Given the description of an element on the screen output the (x, y) to click on. 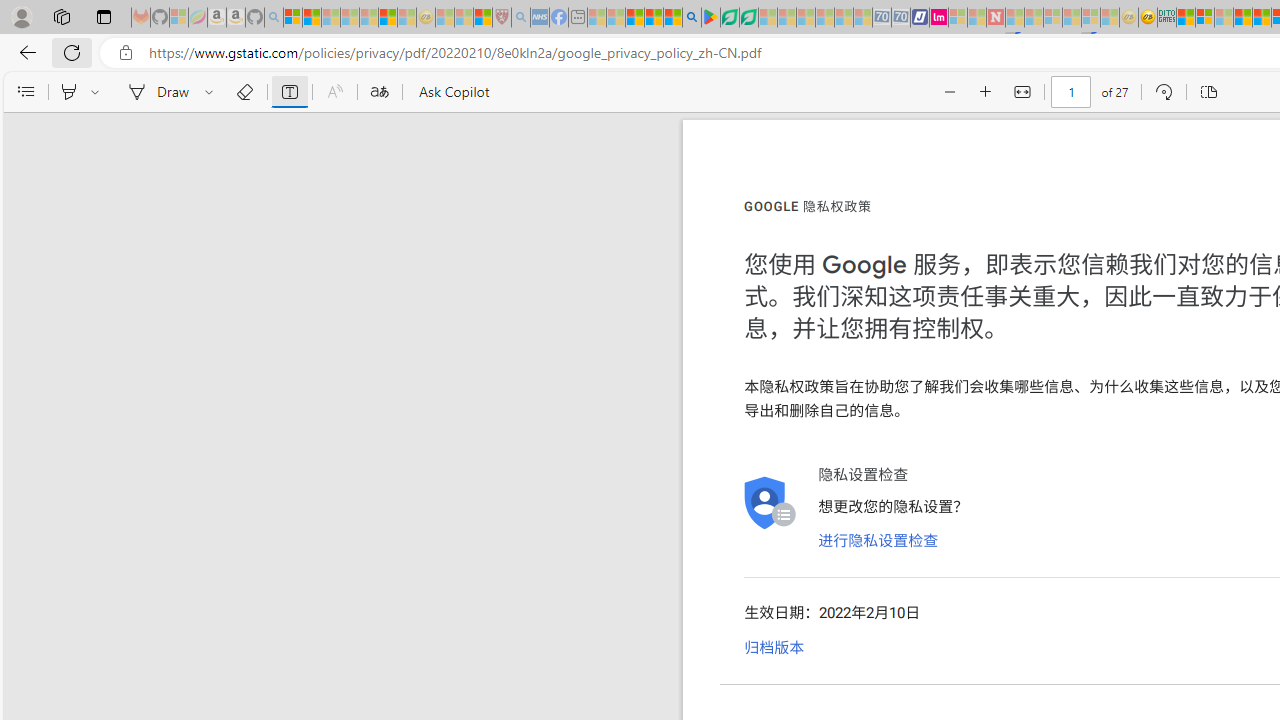
Draw (155, 92)
Zoom in (Ctrl+Plus key) (985, 92)
Kinda Frugal - MSN (1262, 17)
Contents (25, 92)
Zoom out (Ctrl+Minus key) (949, 92)
